Given the description of an element on the screen output the (x, y) to click on. 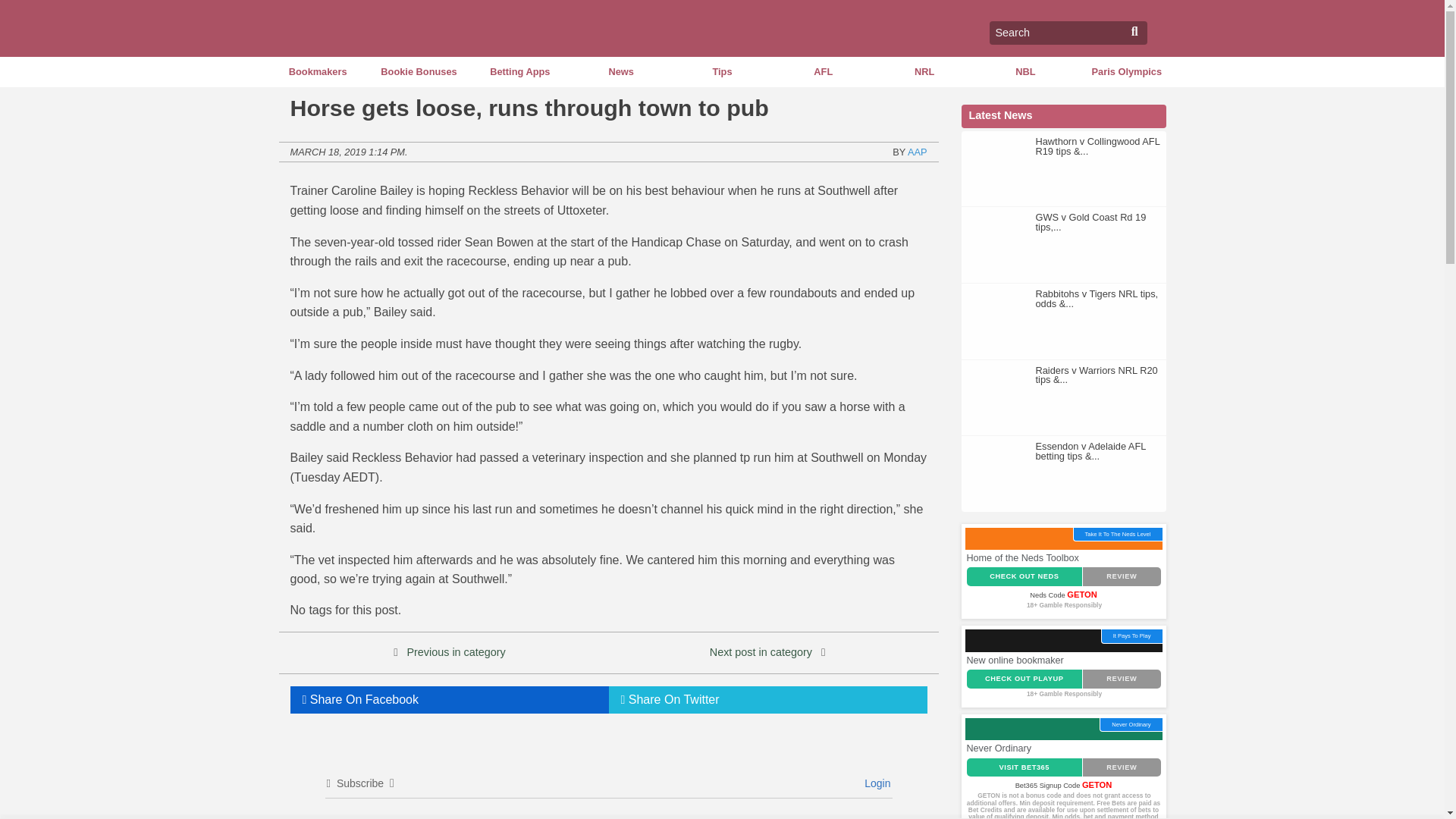
Login (874, 783)
Bookie Bonuses (418, 71)
Bookmakers (317, 71)
Tips (722, 71)
Bookie bonuses (418, 71)
Paris Olympics (1125, 71)
Paris Olympics (1125, 71)
AFL (823, 71)
NBL (1025, 71)
News (620, 71)
Bookmakers (317, 71)
Previous in category (455, 652)
Betting Apps (519, 71)
AAP (917, 152)
Next post in category (761, 652)
